Given the description of an element on the screen output the (x, y) to click on. 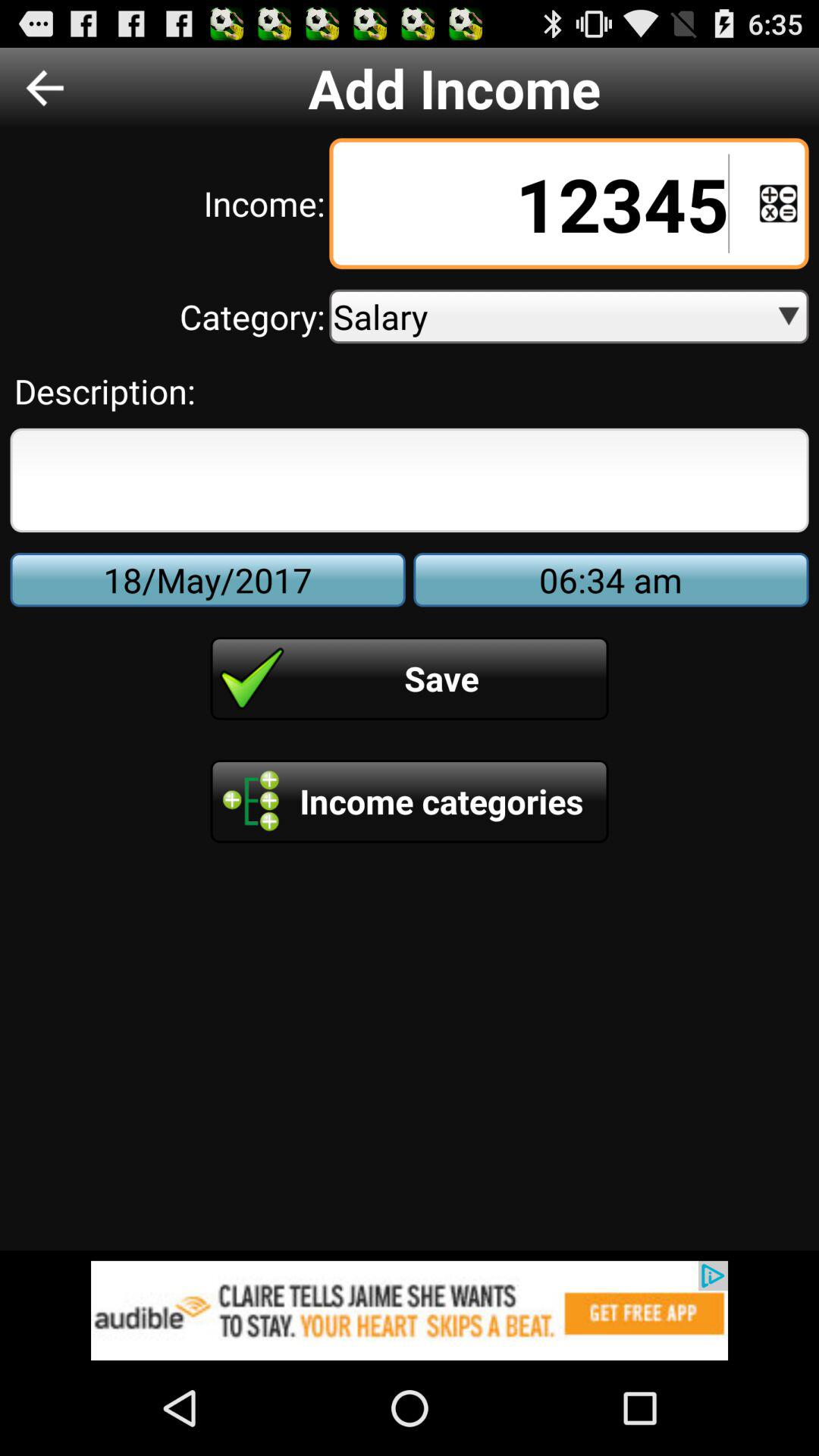
advertisements banner (409, 1310)
